Given the description of an element on the screen output the (x, y) to click on. 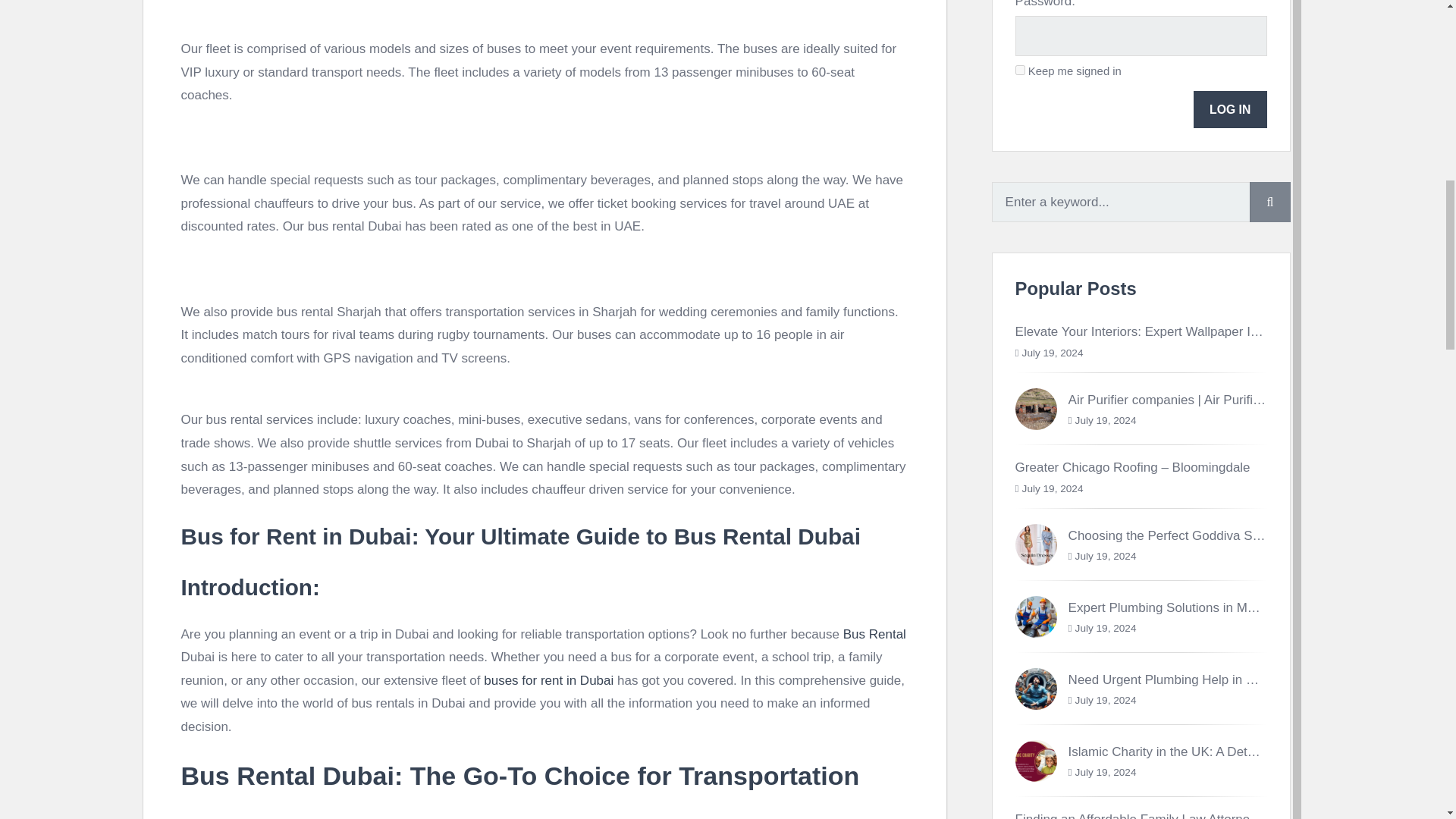
LOG IN (1229, 108)
Bus for Rent in Dubai (295, 536)
July 19, 2024 (1052, 352)
July 19, 2024 (1106, 419)
Bus Rental (874, 634)
forever (1019, 70)
buses for rent in Dubai (547, 680)
